Given the description of an element on the screen output the (x, y) to click on. 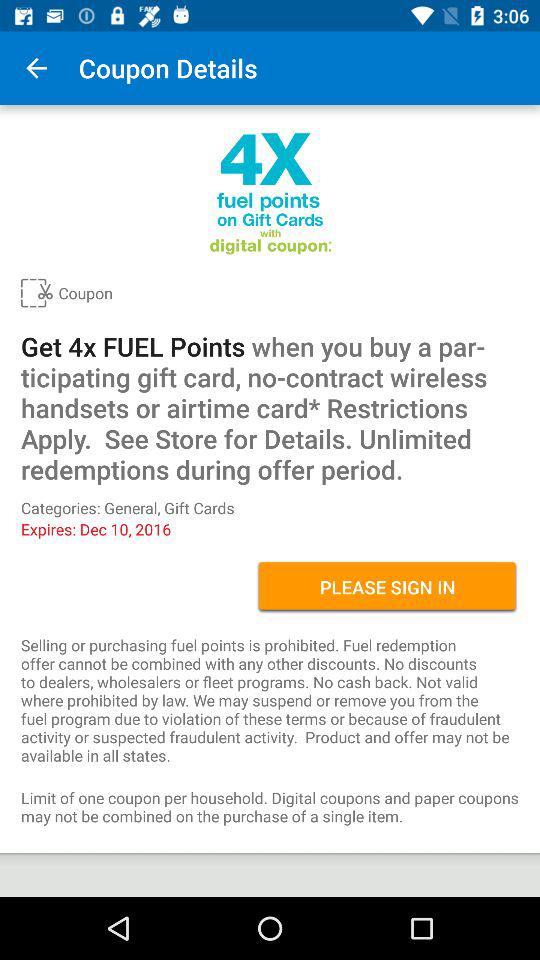
turn off the please sign in item (387, 587)
